Given the description of an element on the screen output the (x, y) to click on. 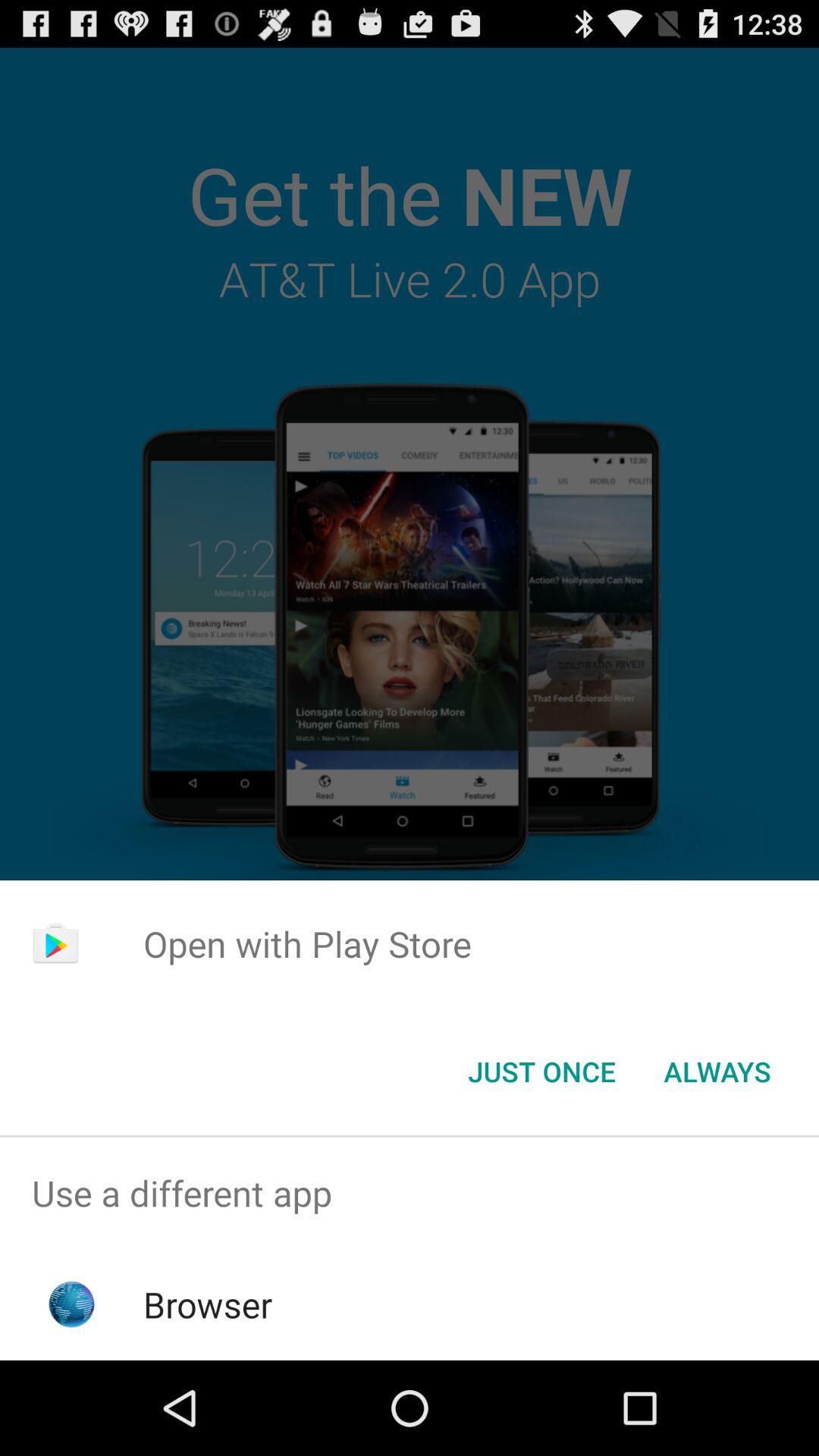
turn on button to the right of the just once item (717, 1071)
